Given the description of an element on the screen output the (x, y) to click on. 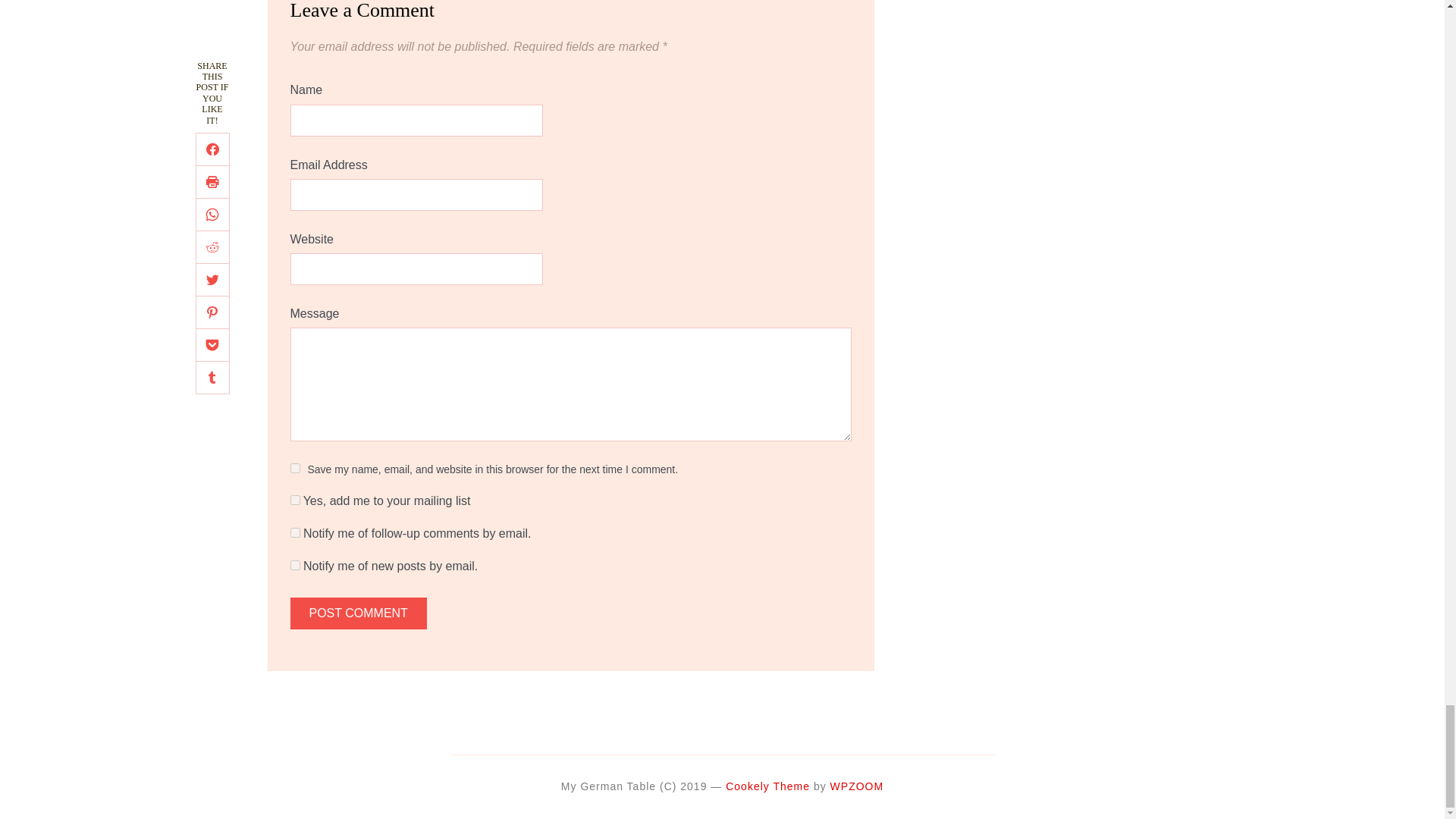
yes (294, 468)
subscribe (294, 565)
1 (294, 500)
Post Comment (357, 613)
subscribe (294, 532)
